Given the description of an element on the screen output the (x, y) to click on. 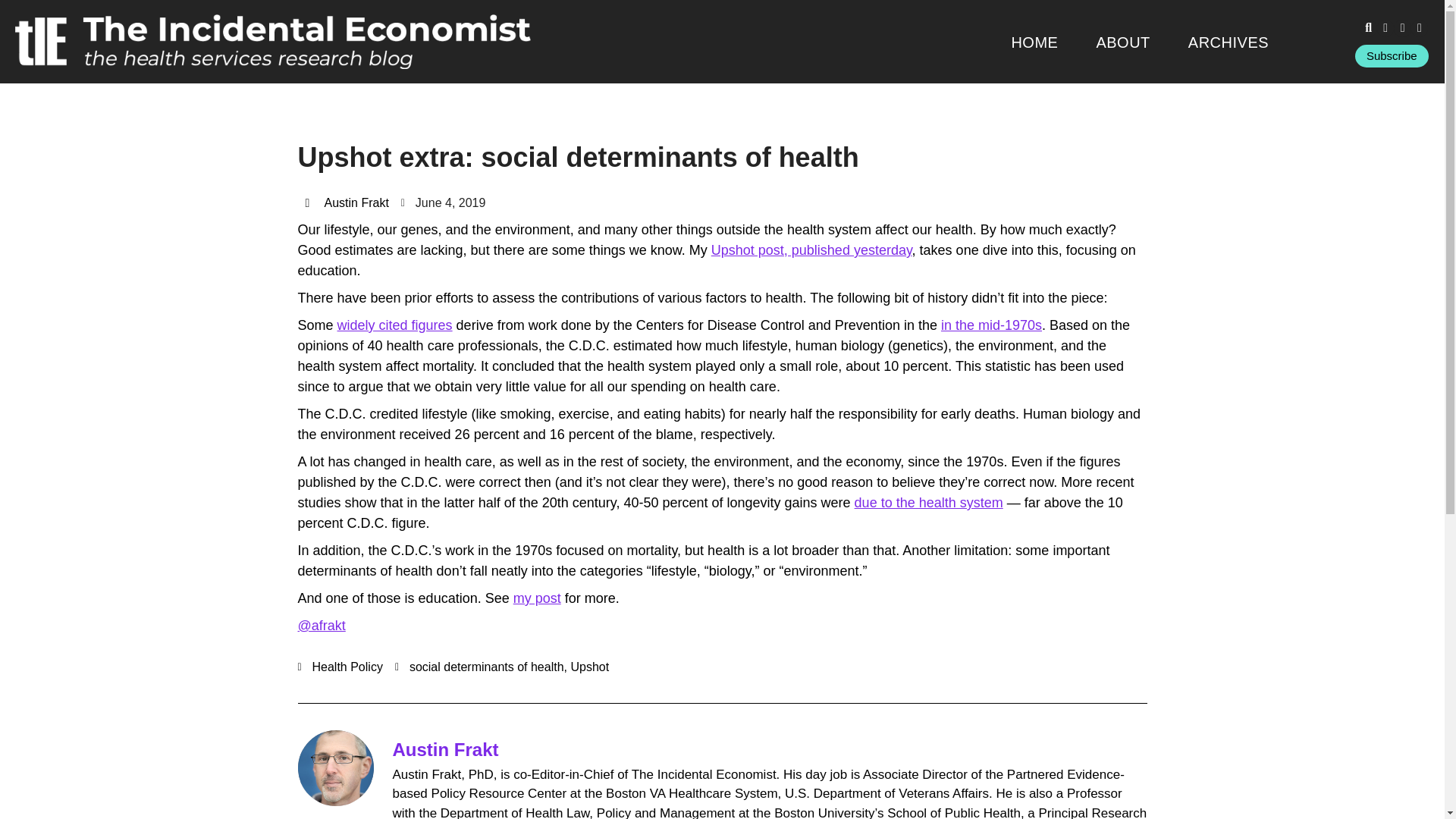
social determinants of health (486, 666)
Health Policy (347, 666)
HOME (1034, 41)
due to the health system (928, 502)
ARCHIVES (1228, 41)
June 4, 2019 (443, 203)
widely cited figures (394, 324)
ABOUT (1122, 41)
in the mid-1970s (991, 324)
Subscribe (1391, 56)
